Given the description of an element on the screen output the (x, y) to click on. 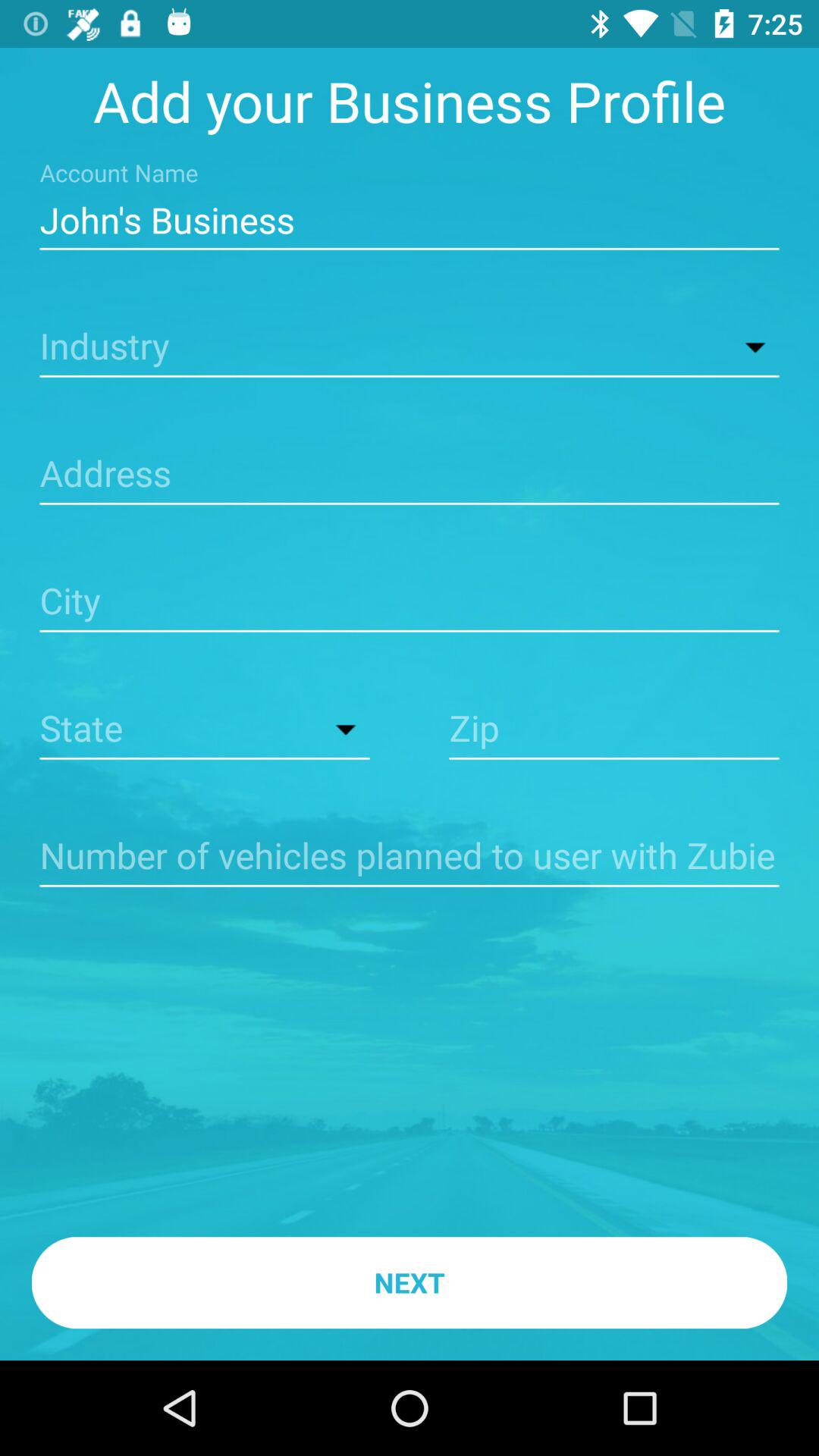
enter city name (409, 602)
